Given the description of an element on the screen output the (x, y) to click on. 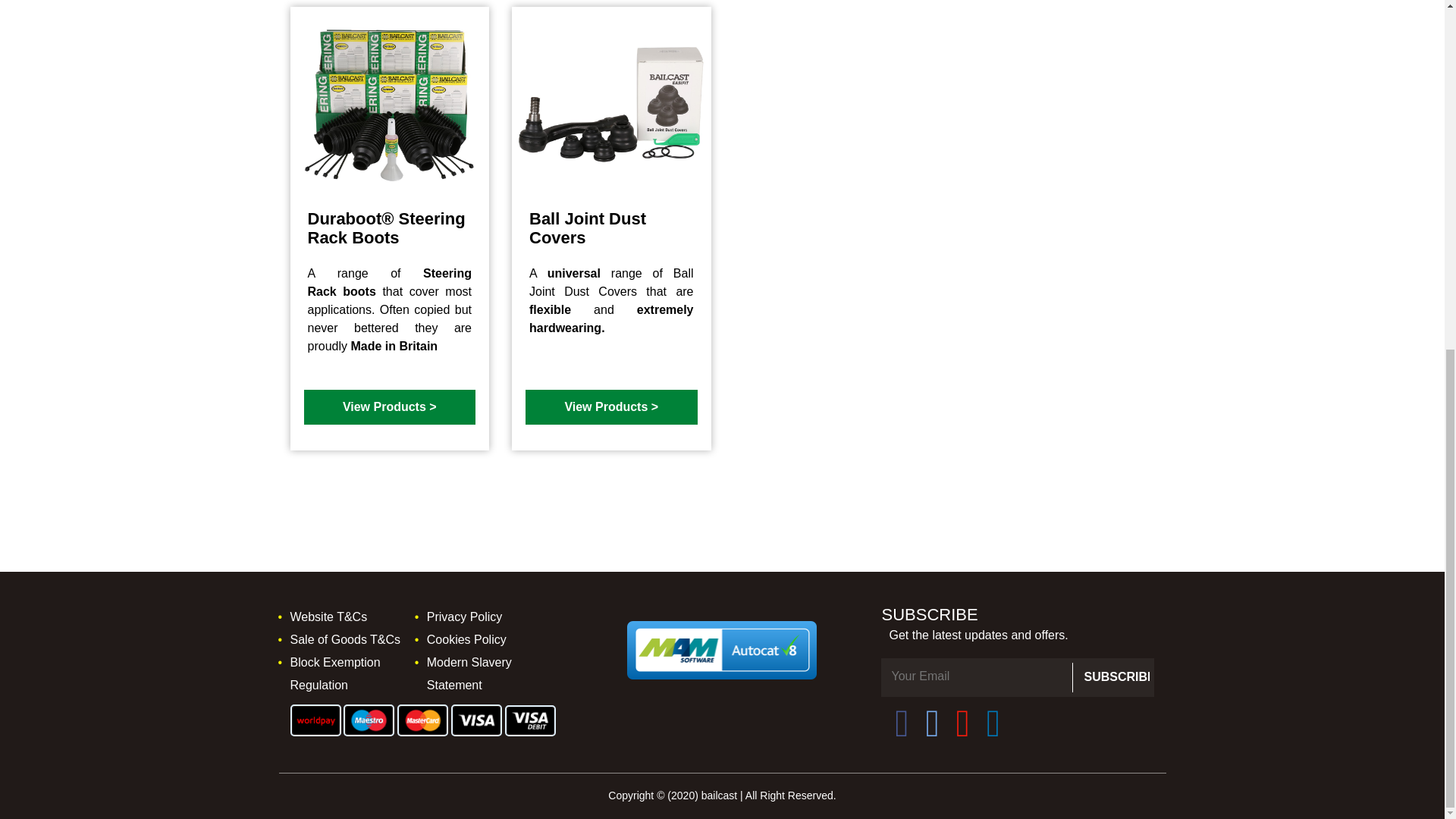
Block Exemption Regulation (334, 673)
Modern Slavery Statement (469, 673)
Ball Joint Dust Covers (609, 230)
SUBSCRIBE (1113, 677)
Cookies Policy (466, 639)
SUBSCRIBE (1113, 677)
Privacy Policy (464, 616)
